Given the description of an element on the screen output the (x, y) to click on. 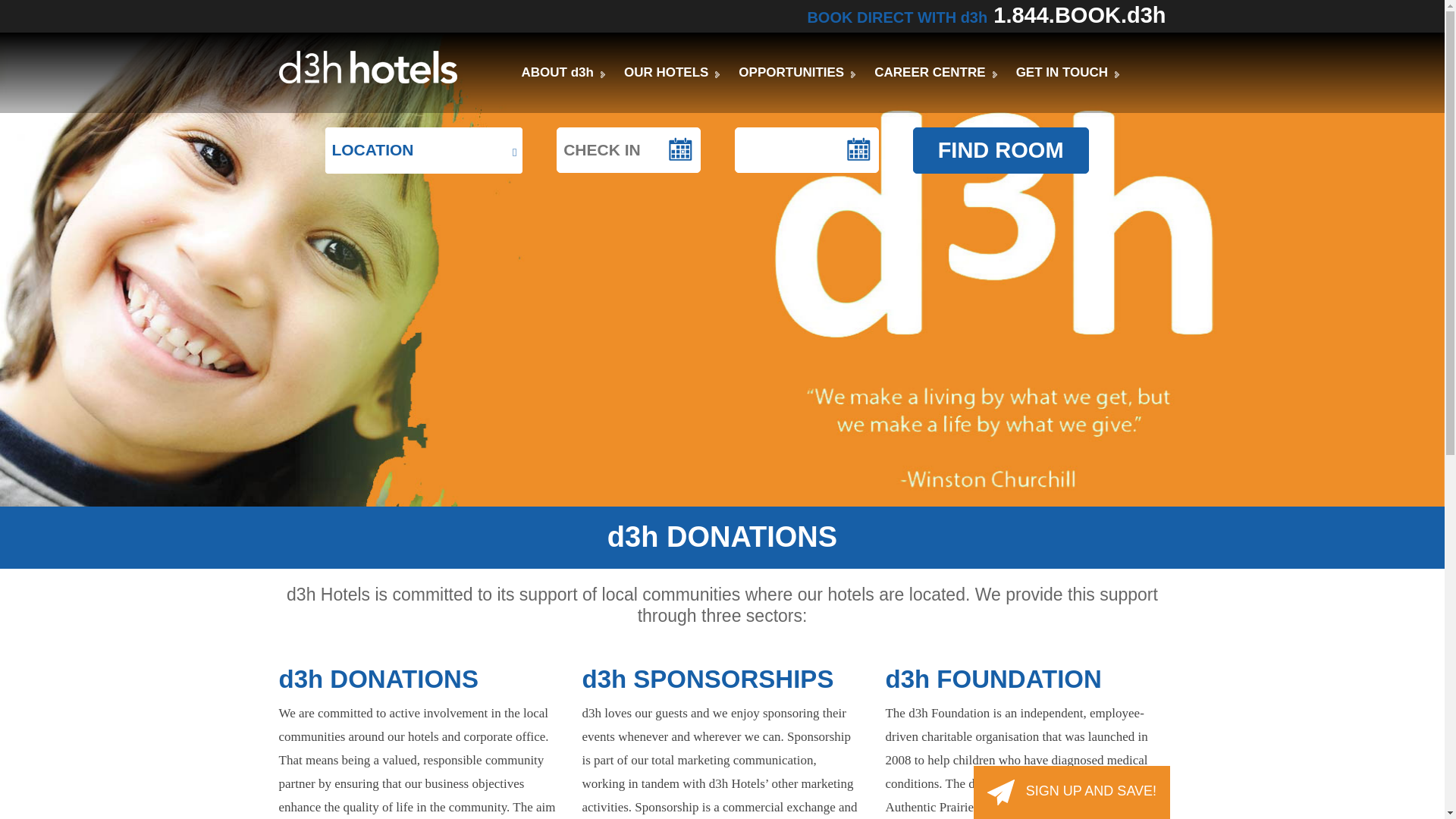
1.844.BOOK.d3h (1079, 15)
